Given the description of an element on the screen output the (x, y) to click on. 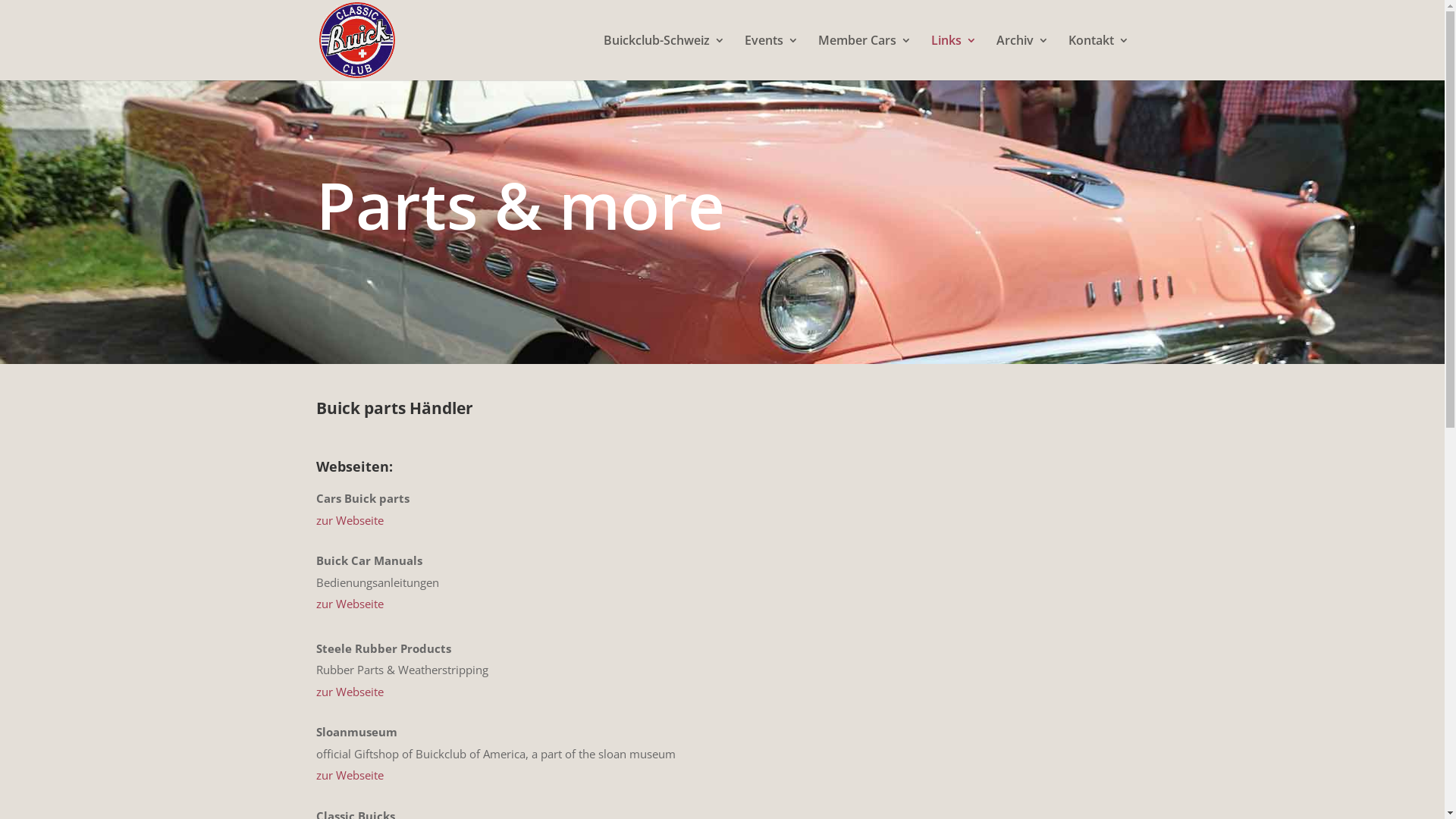
Links Element type: text (953, 57)
Member Cars Element type: text (863, 57)
zur Webseite Element type: text (348, 774)
zur Webseite Element type: text (348, 603)
Kontakt Element type: text (1097, 57)
Buickclub-Schweiz Element type: text (663, 57)
zur Webseite Element type: text (348, 691)
Archiv Element type: text (1022, 57)
Events Element type: text (771, 57)
zur Webseite Element type: text (348, 519)
